Given the description of an element on the screen output the (x, y) to click on. 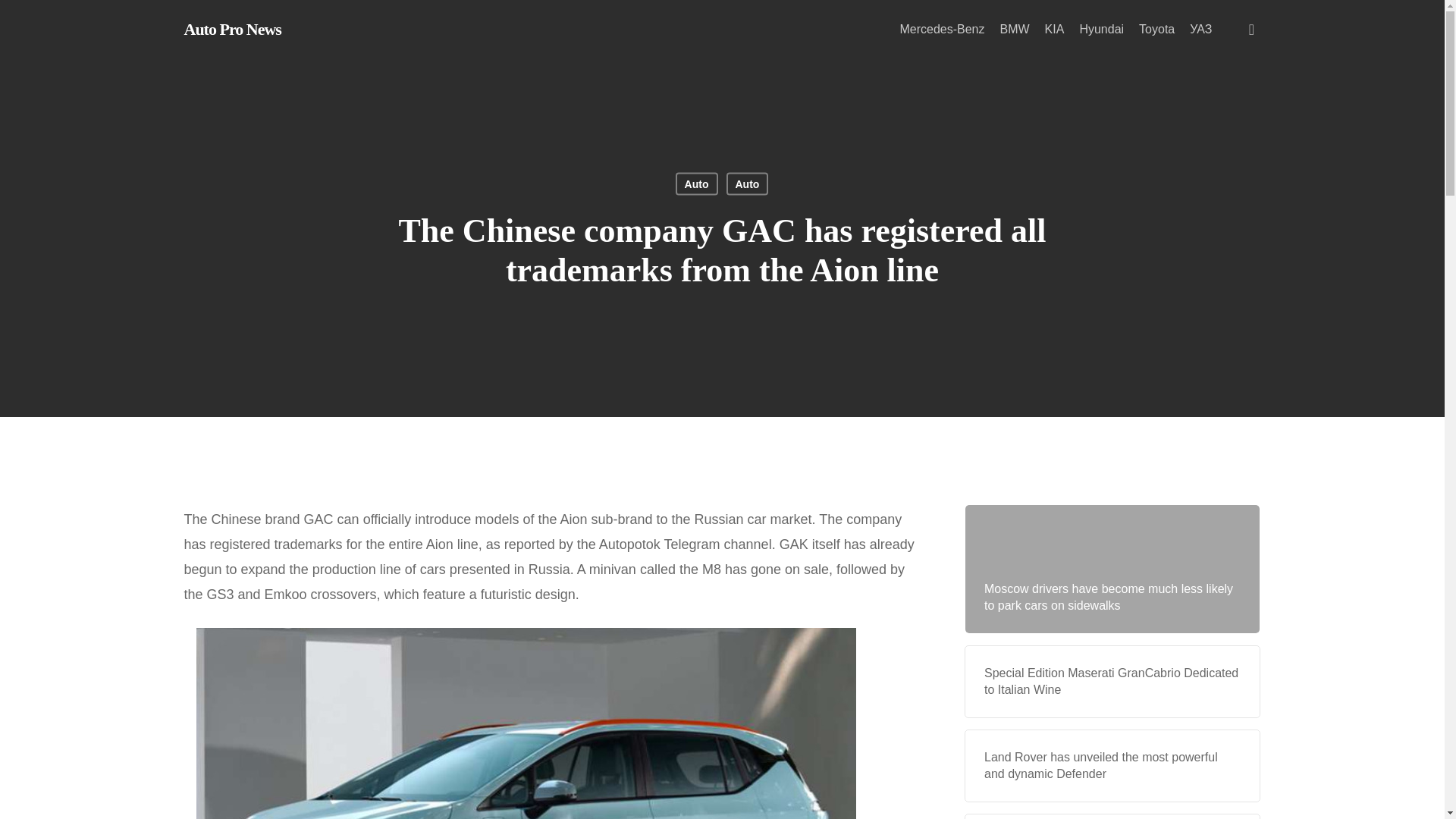
Auto Pro News (232, 29)
Mercedes-Benz (941, 29)
BMW (1013, 29)
